Given the description of an element on the screen output the (x, y) to click on. 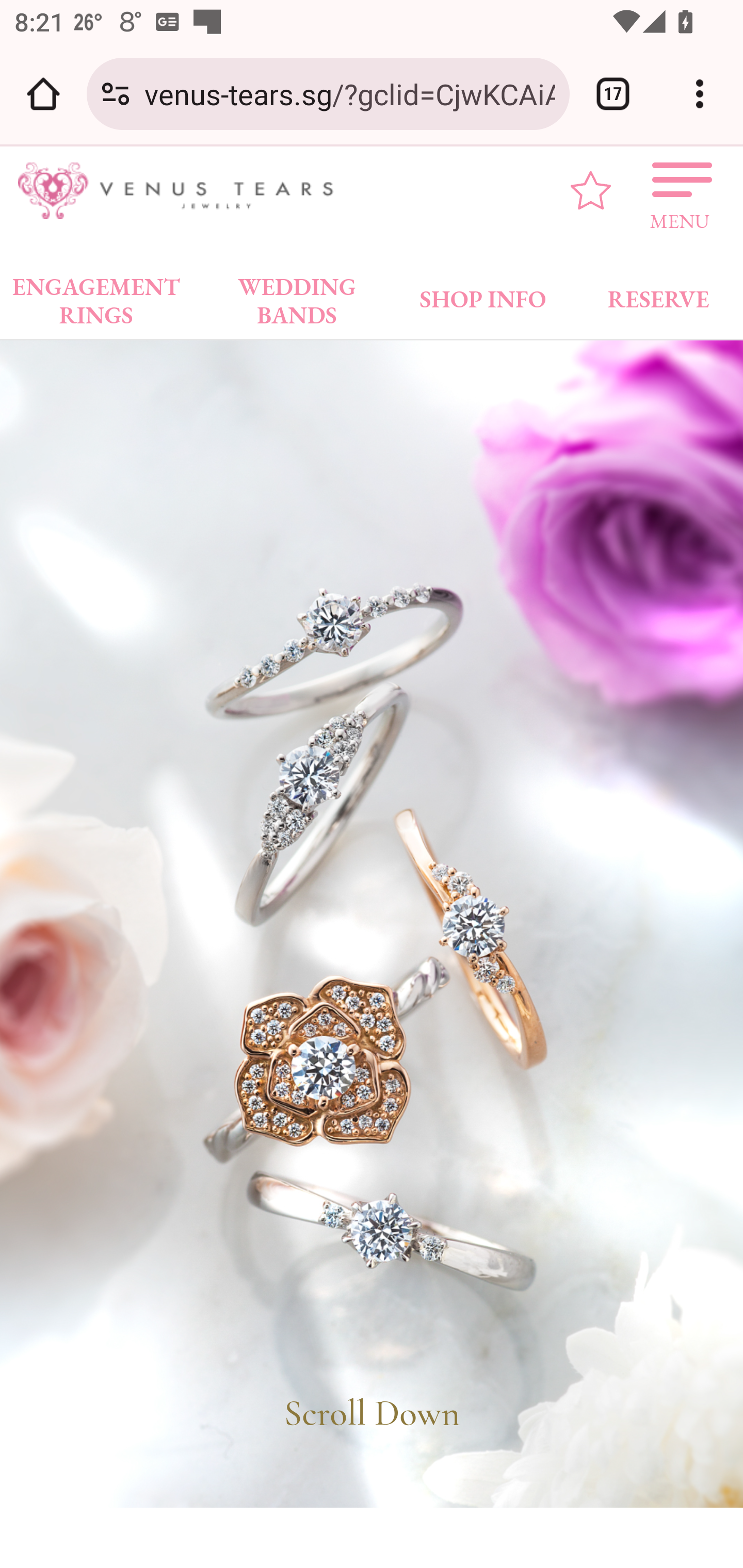
Open the home page (43, 93)
Connection is secure (115, 93)
Switch or close tabs (612, 93)
Customize and control Google Chrome (699, 93)
favourite (591, 190)
VENUS TEARS (181, 191)
ENGAGEMENT RINGS ENGAGEMENT RINGS (96, 295)
WEDDING BANDS WEDDING BANDS (296, 295)
SHOP INFO (482, 294)
RESERVE (657, 294)
